Given the description of an element on the screen output the (x, y) to click on. 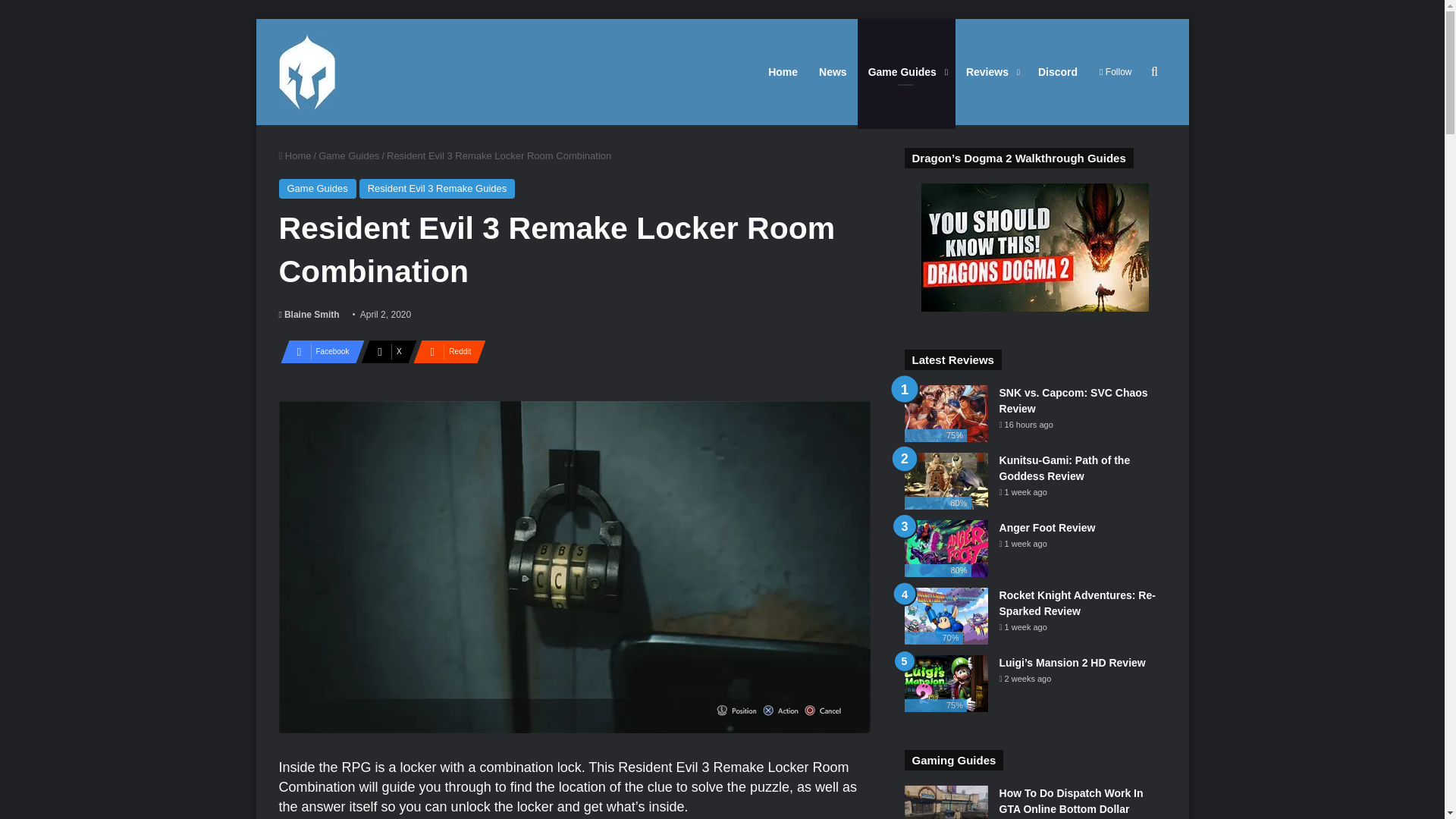
Resident Evil 3 Remake Guides (437, 189)
Reddit (445, 351)
Game Guides (906, 71)
Blaine Smith (309, 314)
Game Guides (317, 189)
X (384, 351)
Home (295, 155)
Game Guides (906, 71)
Blaine Smith (309, 314)
Facebook (318, 351)
Game Guides (348, 155)
